Given the description of an element on the screen output the (x, y) to click on. 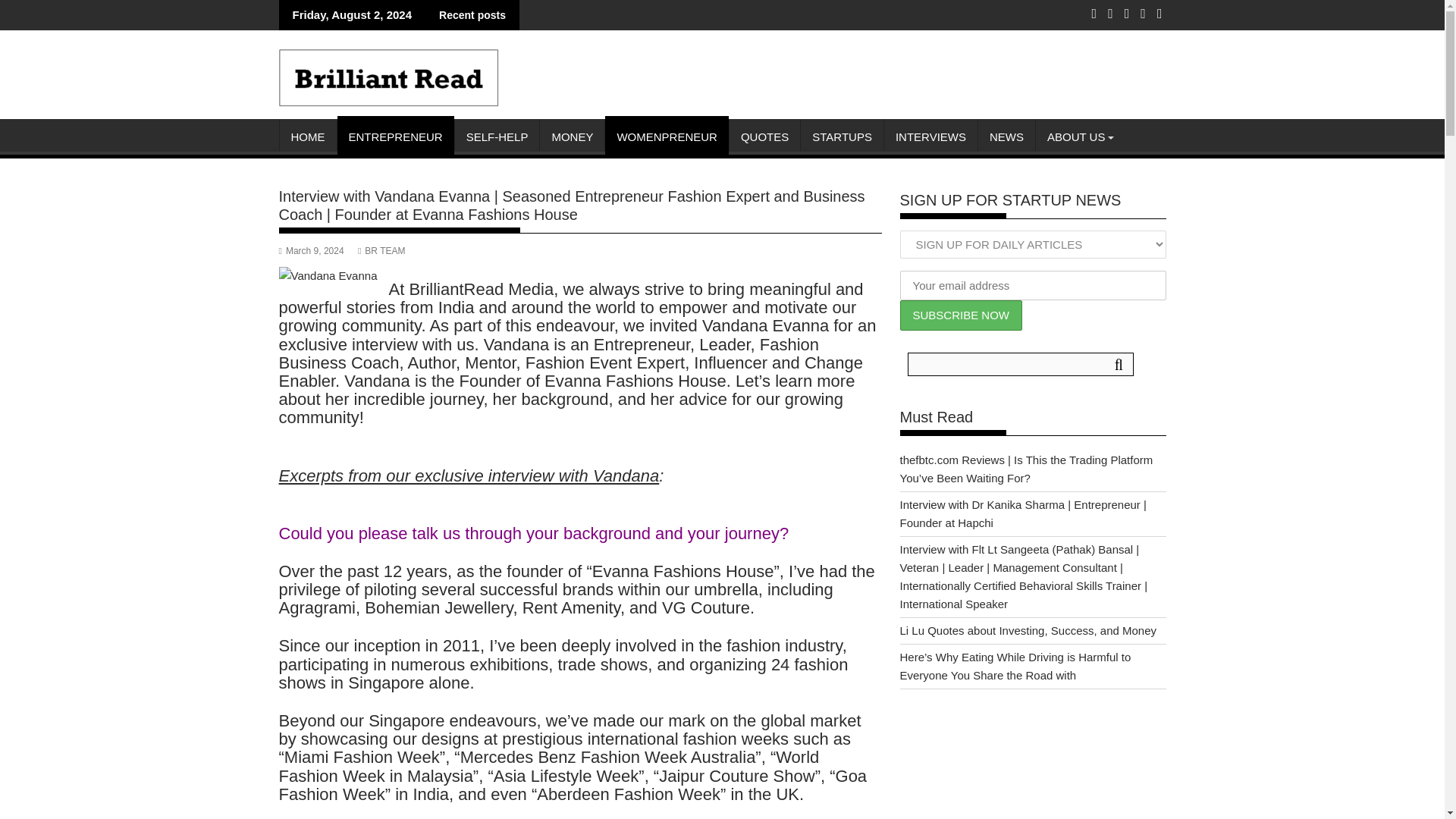
March 9, 2024 (311, 250)
STARTUPS (841, 136)
QUOTES (764, 136)
MONEY (572, 136)
WOMENPRENEUR (667, 136)
HOME (307, 136)
NEWS (1006, 136)
Li Lu Quotes about Investing, Success, and Money (1027, 630)
SUBSCRIBE NOW (960, 315)
SELF-HELP (497, 136)
SUBSCRIBE NOW (960, 315)
personal finance (572, 136)
BR TEAM (382, 250)
ABOUT US (1075, 136)
ENTREPRENEUR (394, 136)
